Given the description of an element on the screen output the (x, y) to click on. 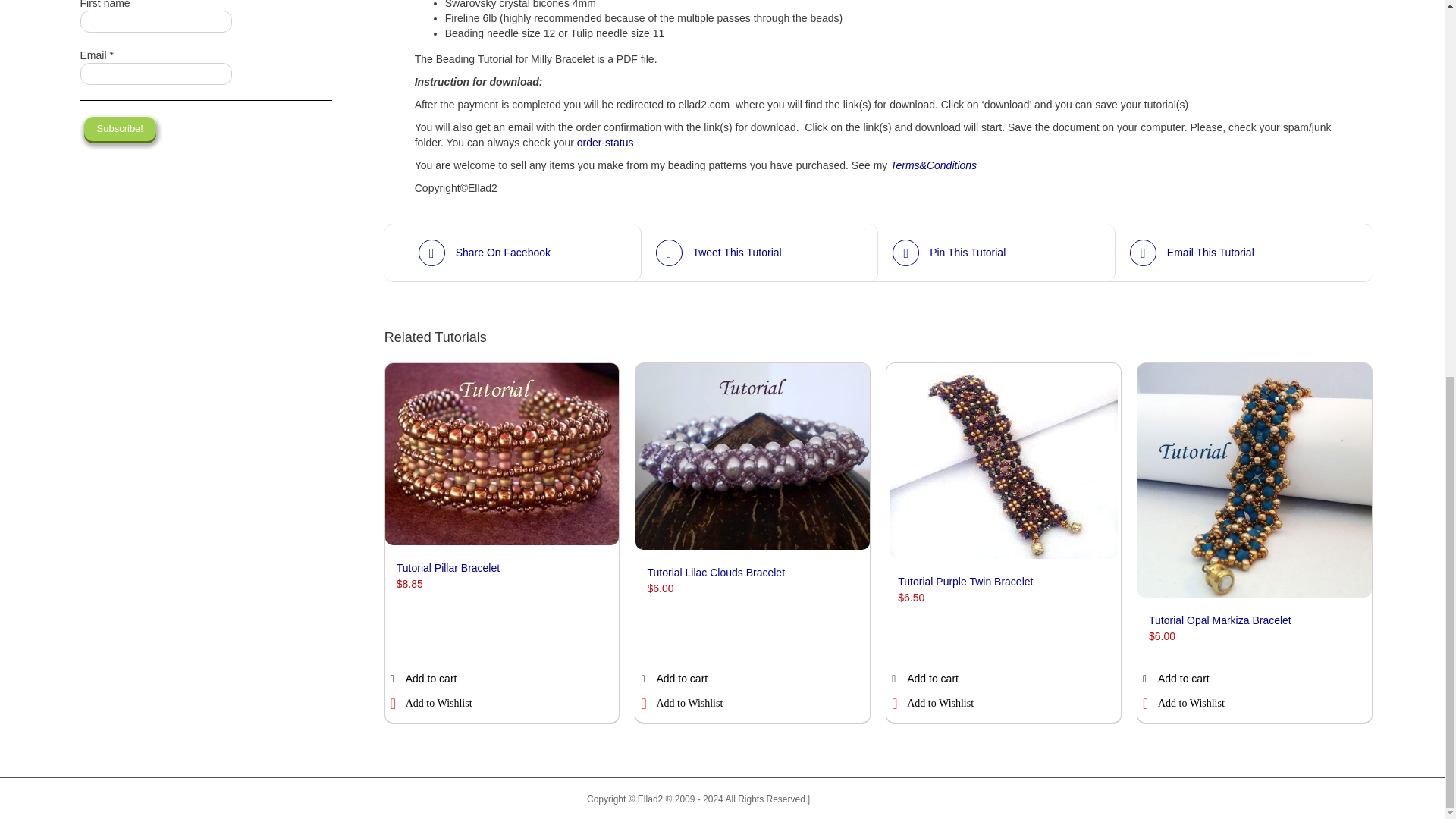
Subscribe! (119, 128)
